Given the description of an element on the screen output the (x, y) to click on. 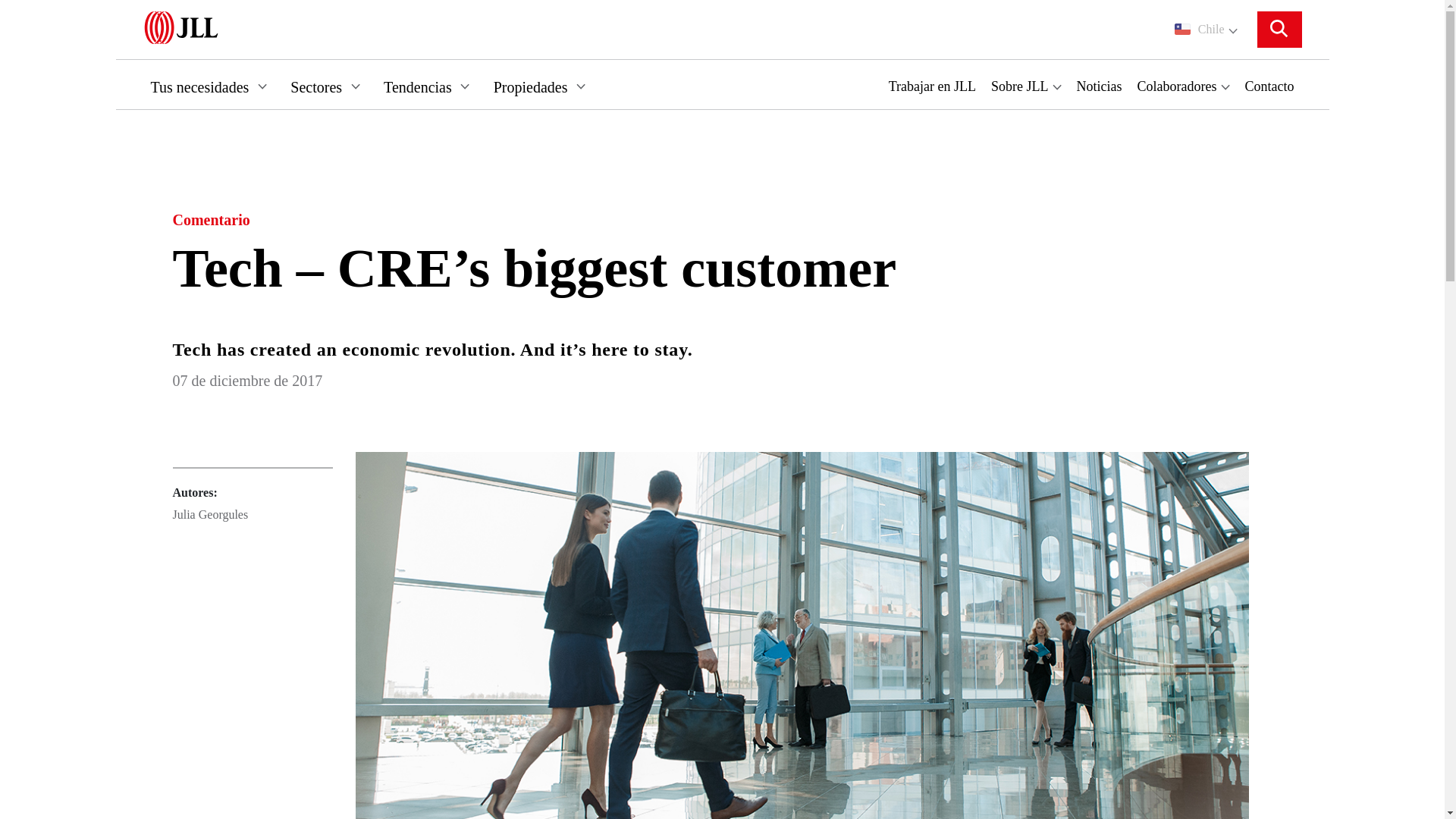
Chile (1206, 29)
